Given the description of an element on the screen output the (x, y) to click on. 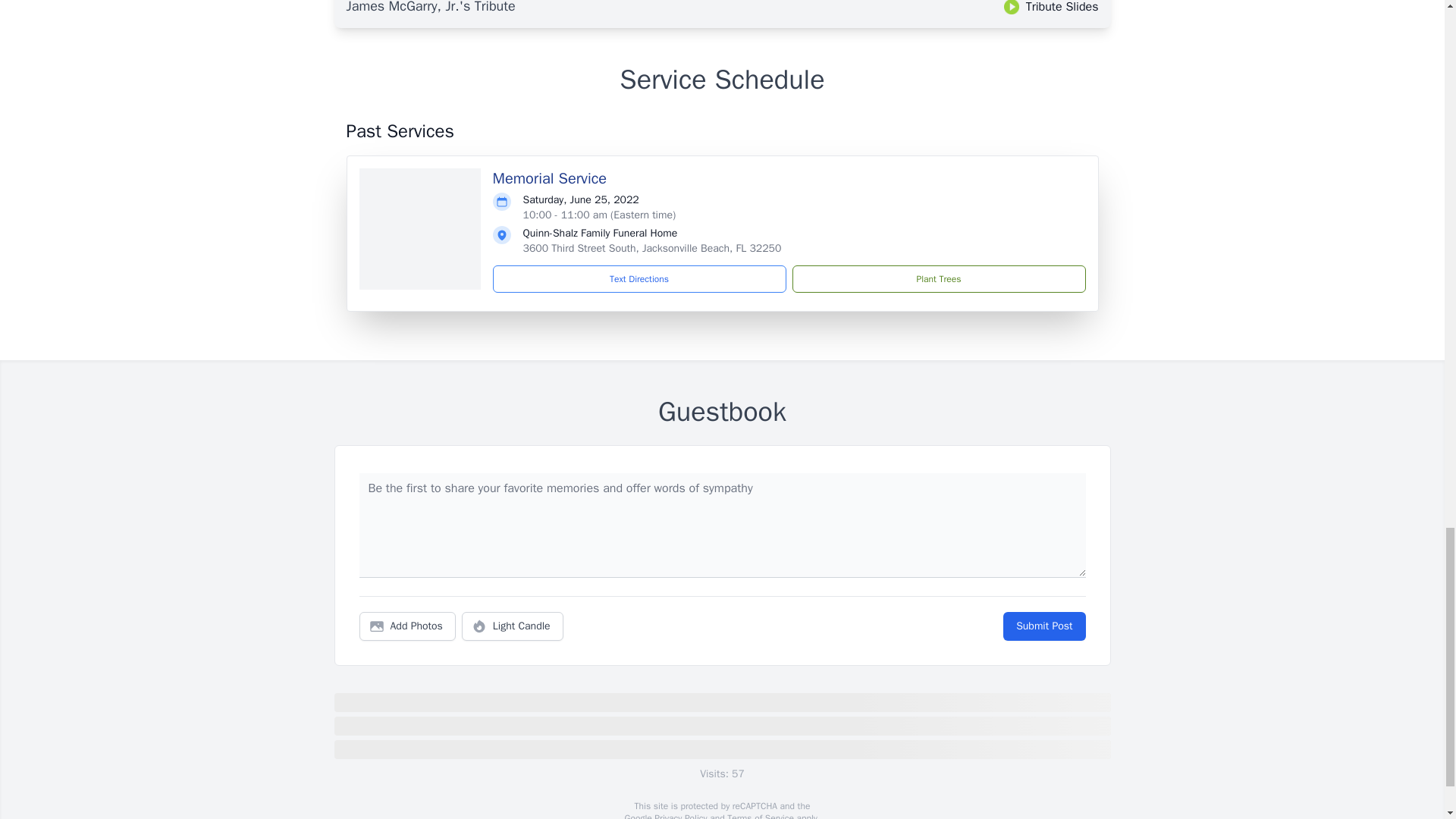
Light Candle (512, 625)
Plant Trees (938, 278)
Terms of Service (759, 815)
Text Directions (639, 278)
Privacy Policy (679, 815)
3600 Third Street South, Jacksonville Beach, FL 32250 (651, 247)
Add Photos (407, 625)
Submit Post (1043, 625)
